Given the description of an element on the screen output the (x, y) to click on. 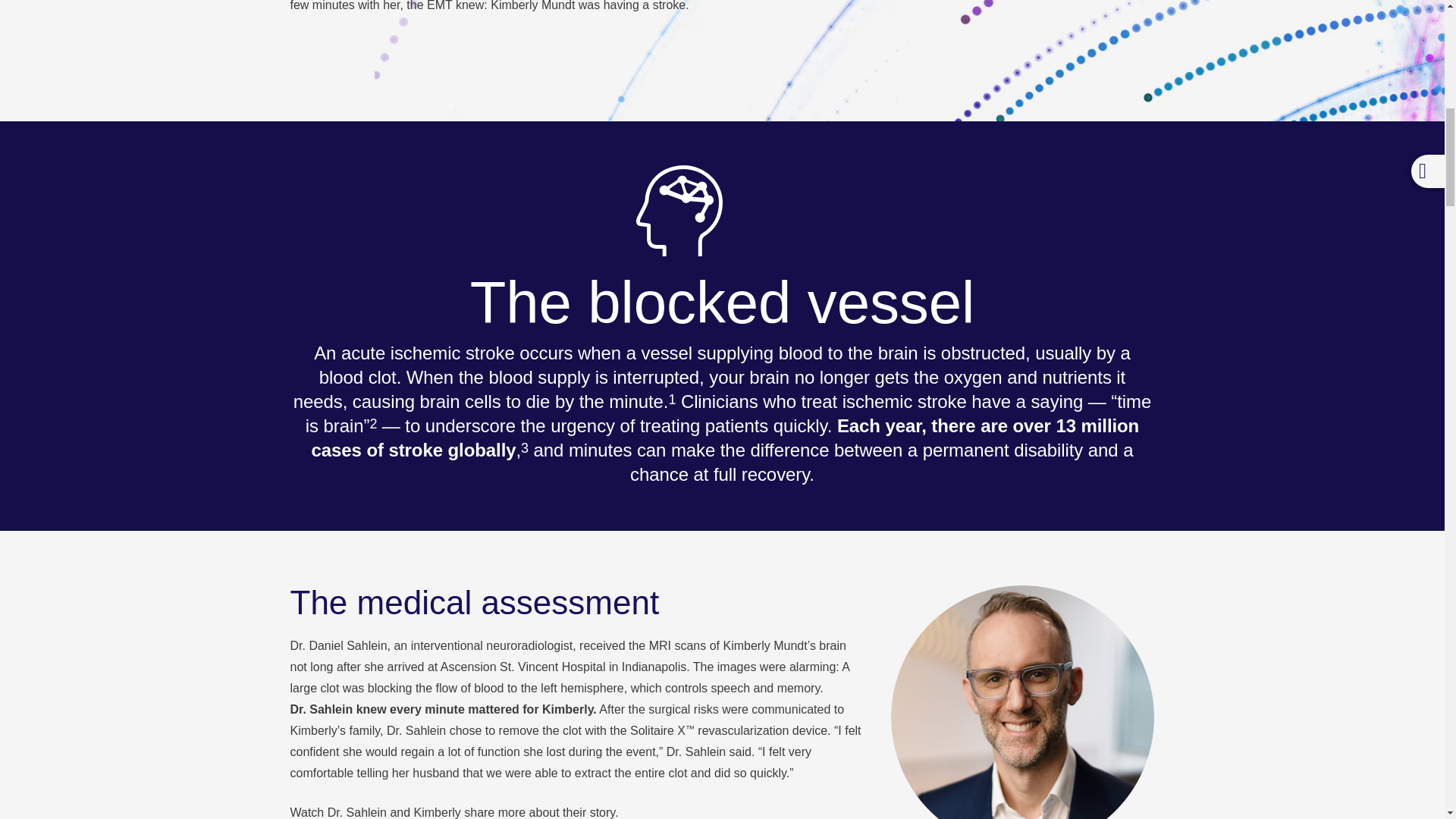
Dr. Daniel Sahlein photo (1021, 702)
